Given the description of an element on the screen output the (x, y) to click on. 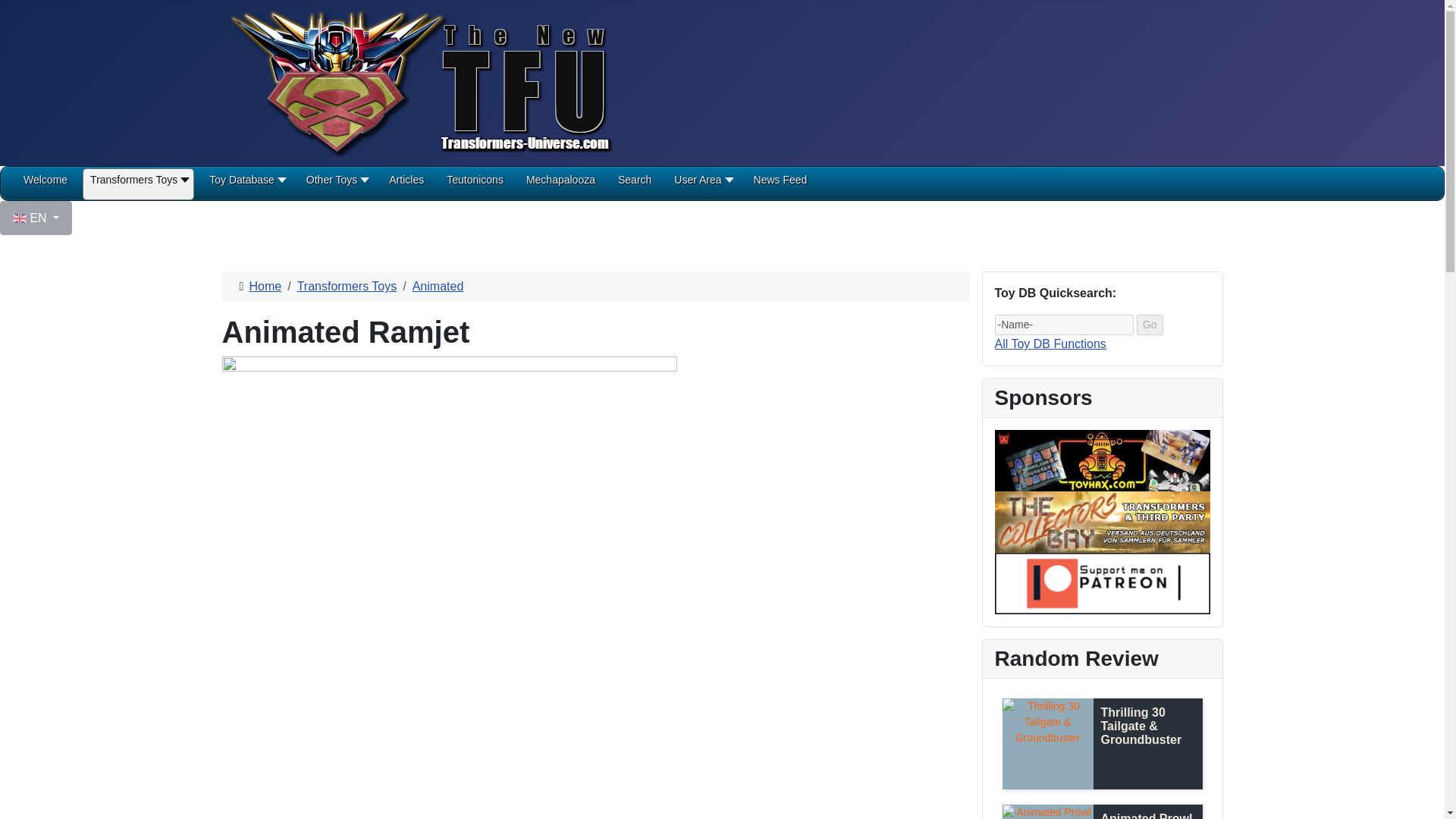
Go (1150, 324)
Transformers Toys (138, 184)
Welcome (44, 184)
-Name- (1064, 324)
